Given the description of an element on the screen output the (x, y) to click on. 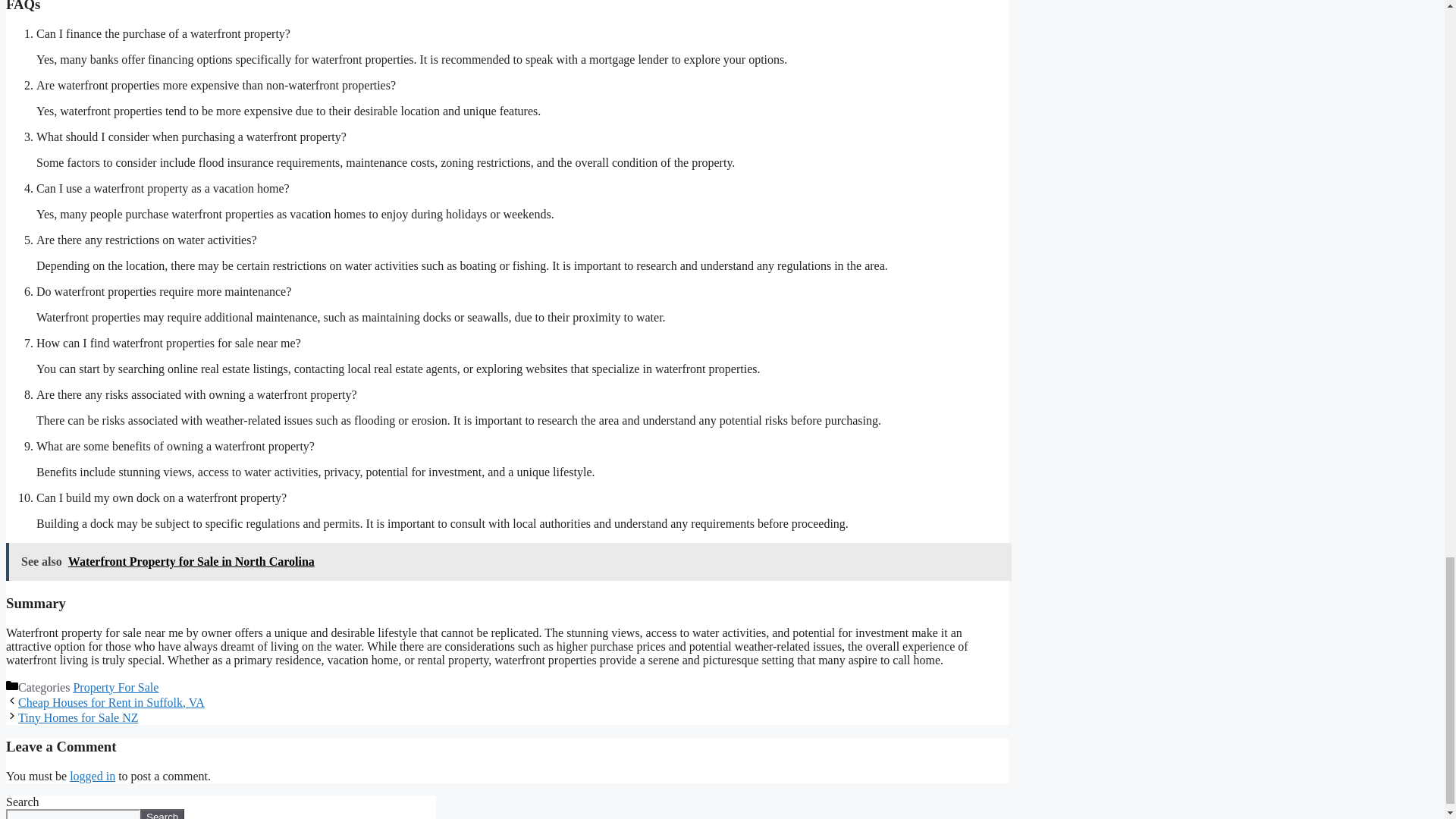
Tiny Homes for Sale NZ (77, 717)
Property For Sale (115, 686)
Cheap Houses for Rent in Suffolk, VA (111, 702)
See also  Waterfront Property for Sale in North Carolina (508, 561)
logged in (92, 775)
